Given the description of an element on the screen output the (x, y) to click on. 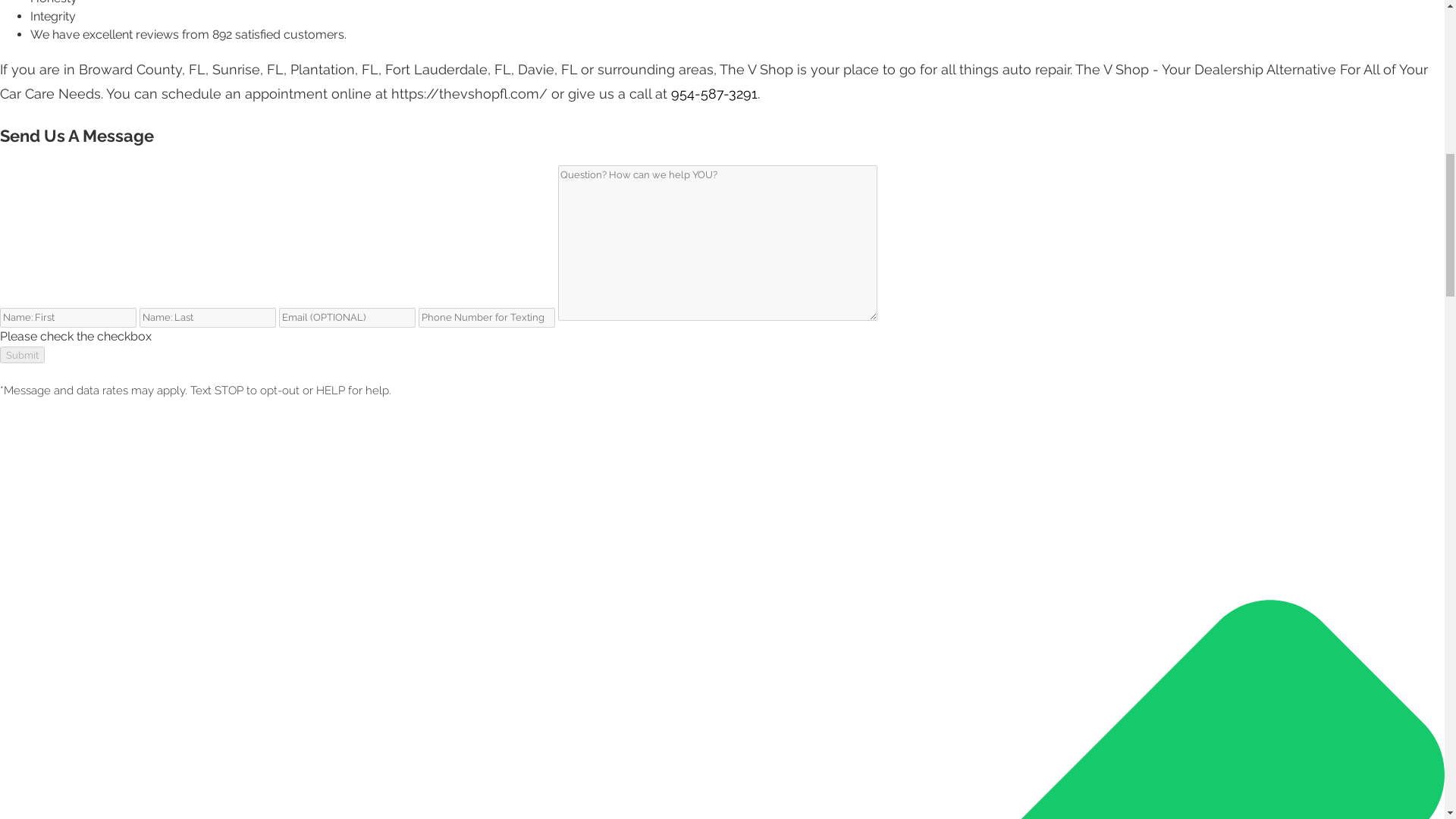
Submit (22, 354)
